Given the description of an element on the screen output the (x, y) to click on. 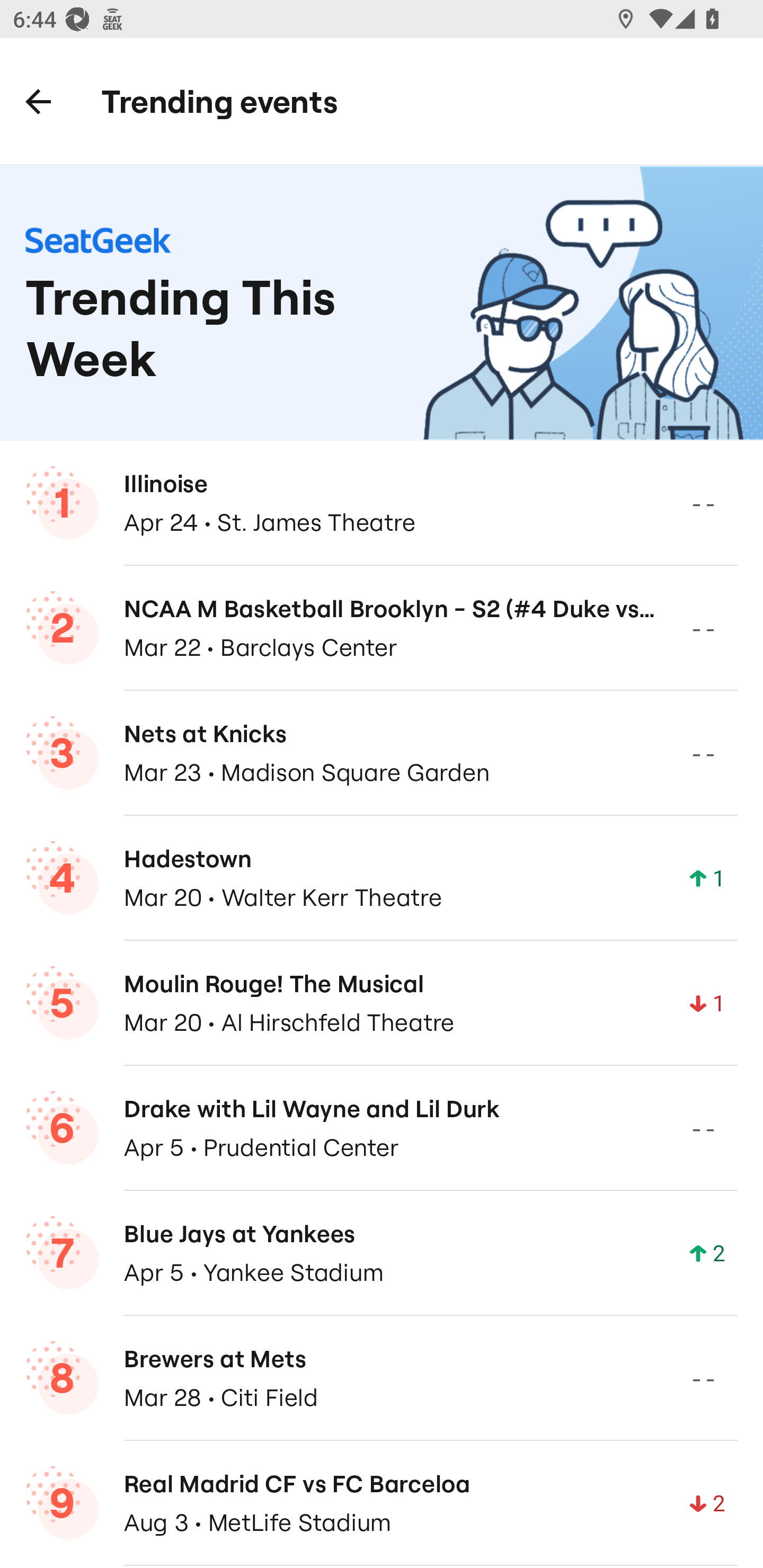
Back (38, 100)
